Given the description of an element on the screen output the (x, y) to click on. 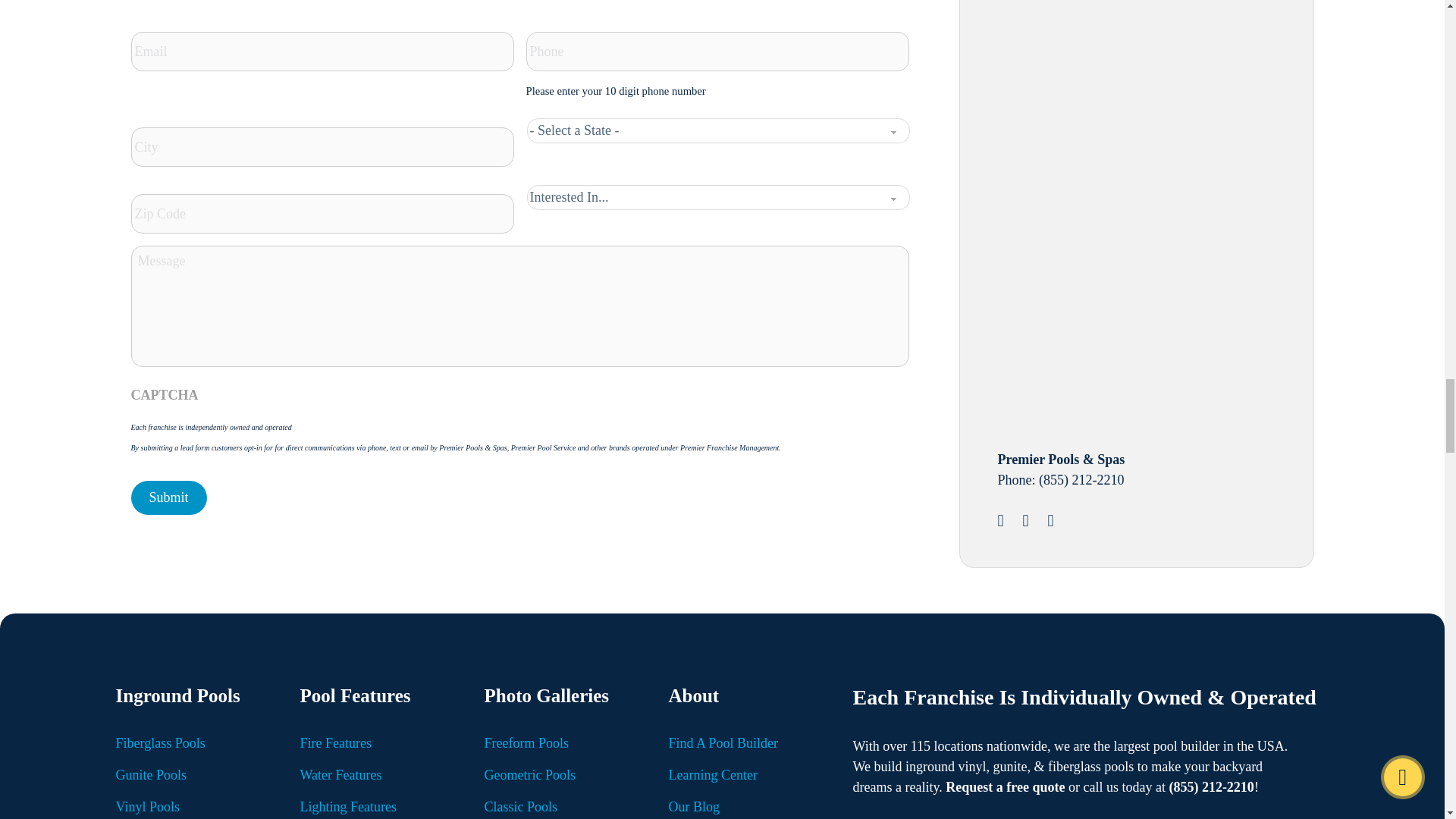
Submit (168, 497)
Pool Financing (1111, 293)
Design Your Pool (1111, 70)
